Given the description of an element on the screen output the (x, y) to click on. 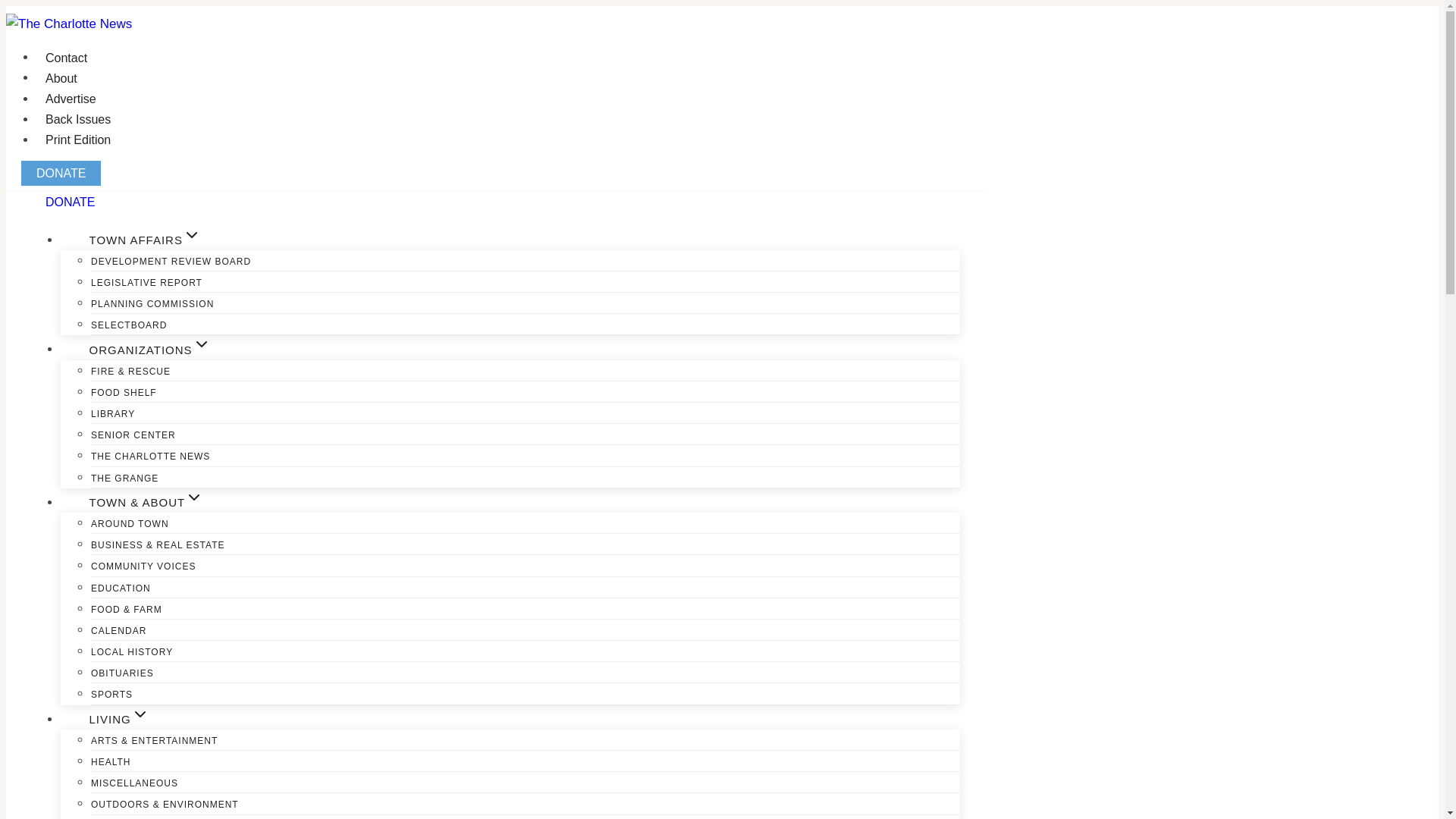
FOOD SHELF (123, 392)
TOWN AFFAIRSEXPAND (144, 239)
SPORTS (111, 694)
DEVELOPMENT REVIEW BOARD (170, 261)
ORGANIZATIONSEXPAND (149, 349)
LIBRARY (112, 413)
Contact (66, 57)
OBITUARIES (122, 673)
LOCAL HISTORY (131, 652)
